Given the description of an element on the screen output the (x, y) to click on. 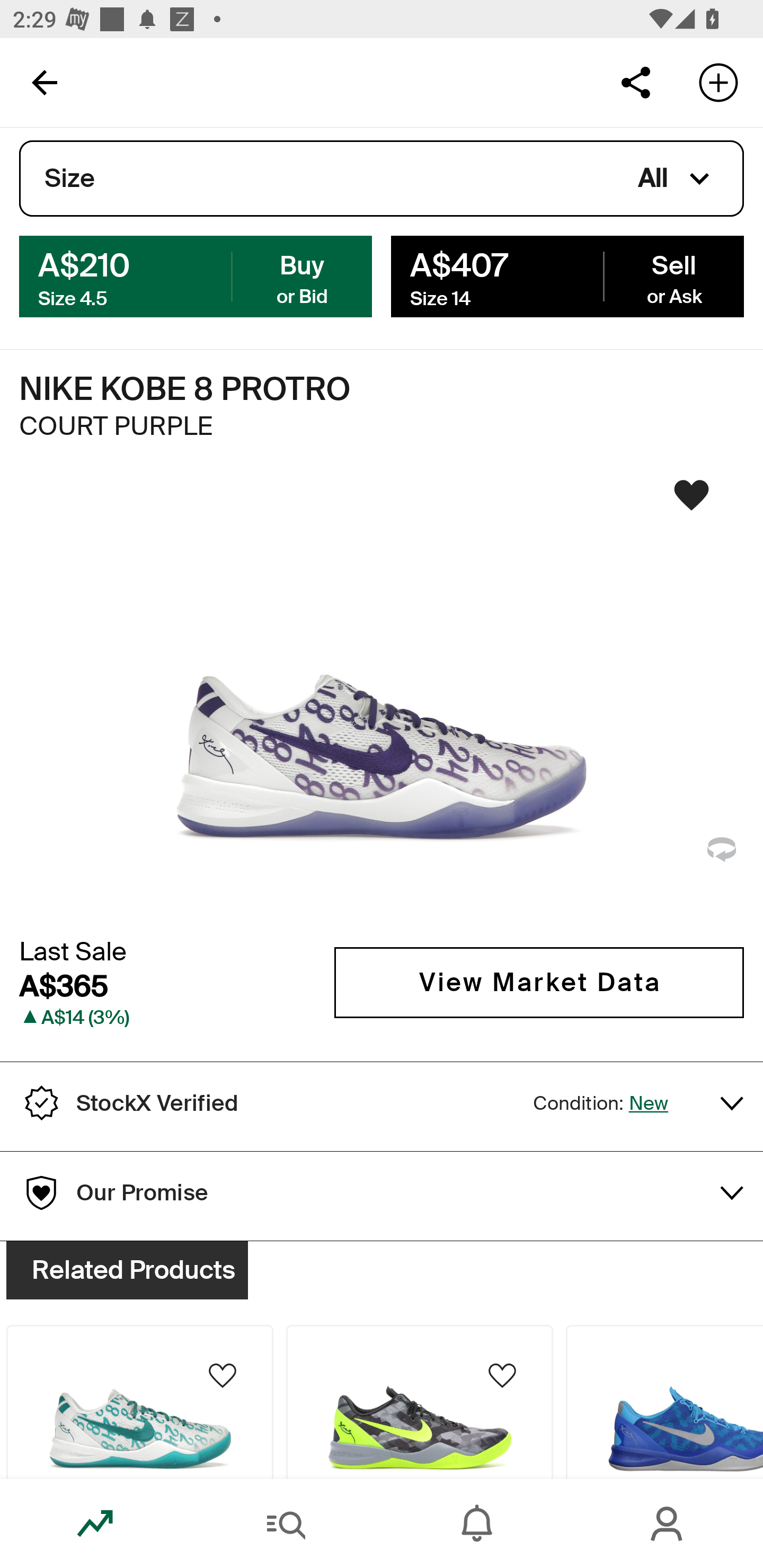
Share (635, 81)
Add (718, 81)
Size All (381, 178)
A$210 Buy Size 4.5 or Bid (195, 275)
A$407 Sell Size 14 or Ask (566, 275)
Sneaker Image (381, 699)
View Market Data (538, 982)
Product Image (139, 1401)
Product Image (419, 1401)
Product Image (664, 1401)
Search (285, 1523)
Inbox (476, 1523)
Account (667, 1523)
